Given the description of an element on the screen output the (x, y) to click on. 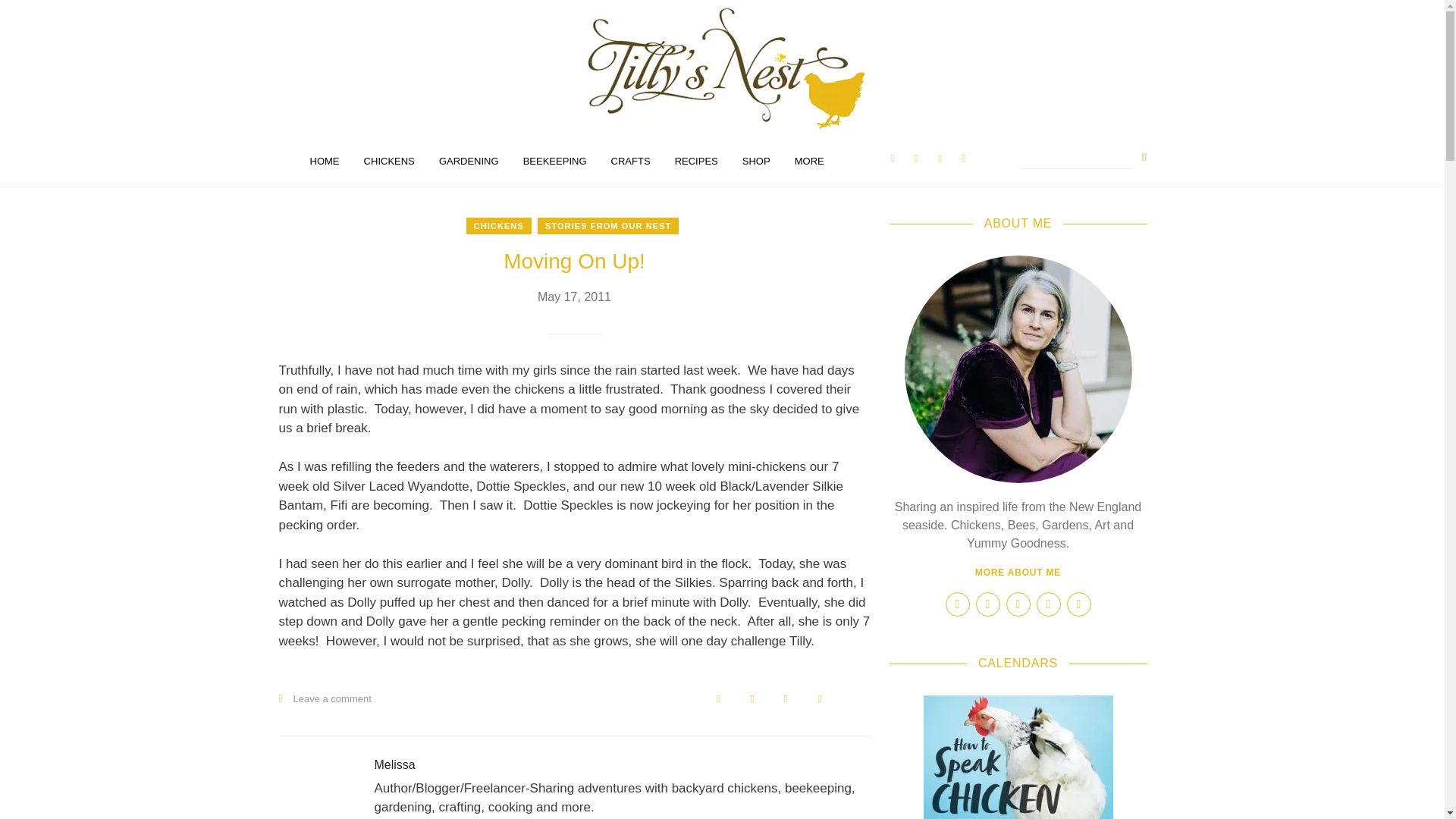
BEEKEEPING (554, 161)
HOME (323, 161)
CRAFTS (630, 161)
GARDENING (468, 161)
CHICKENS (389, 161)
